Given the description of an element on the screen output the (x, y) to click on. 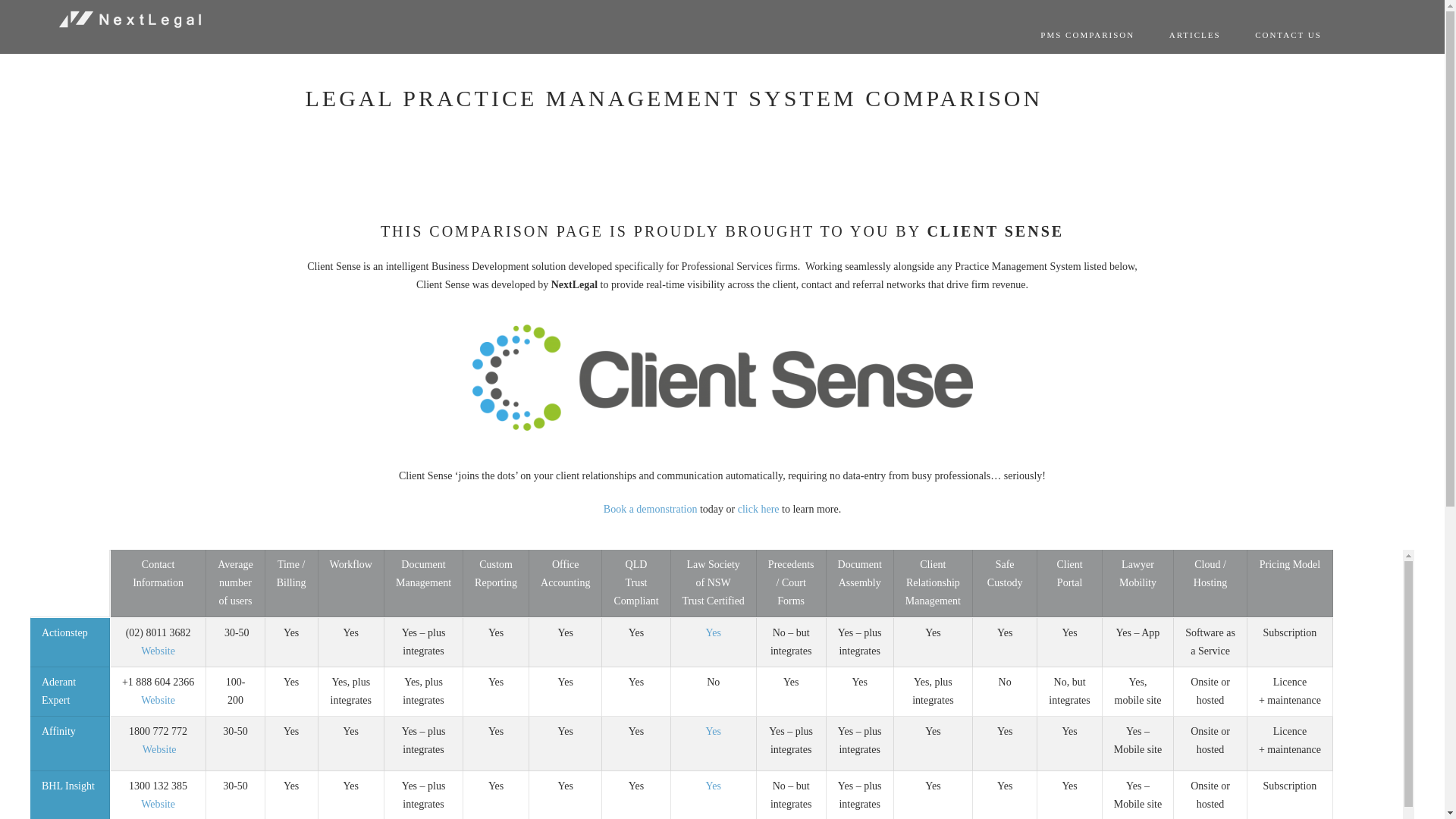
Yes Element type: text (712, 632)
PMS COMPARISON Element type: text (1087, 35)
Website Element type: text (158, 700)
Website Element type: text (158, 650)
Website Element type: text (158, 803)
ARTICLES Element type: text (1194, 35)
CONTACT US Element type: text (1288, 35)
Book a demonstration Element type: text (650, 508)
Yes Element type: text (712, 785)
Website Element type: text (159, 749)
Yes Element type: text (712, 731)
click here Element type: text (758, 508)
